Given the description of an element on the screen output the (x, y) to click on. 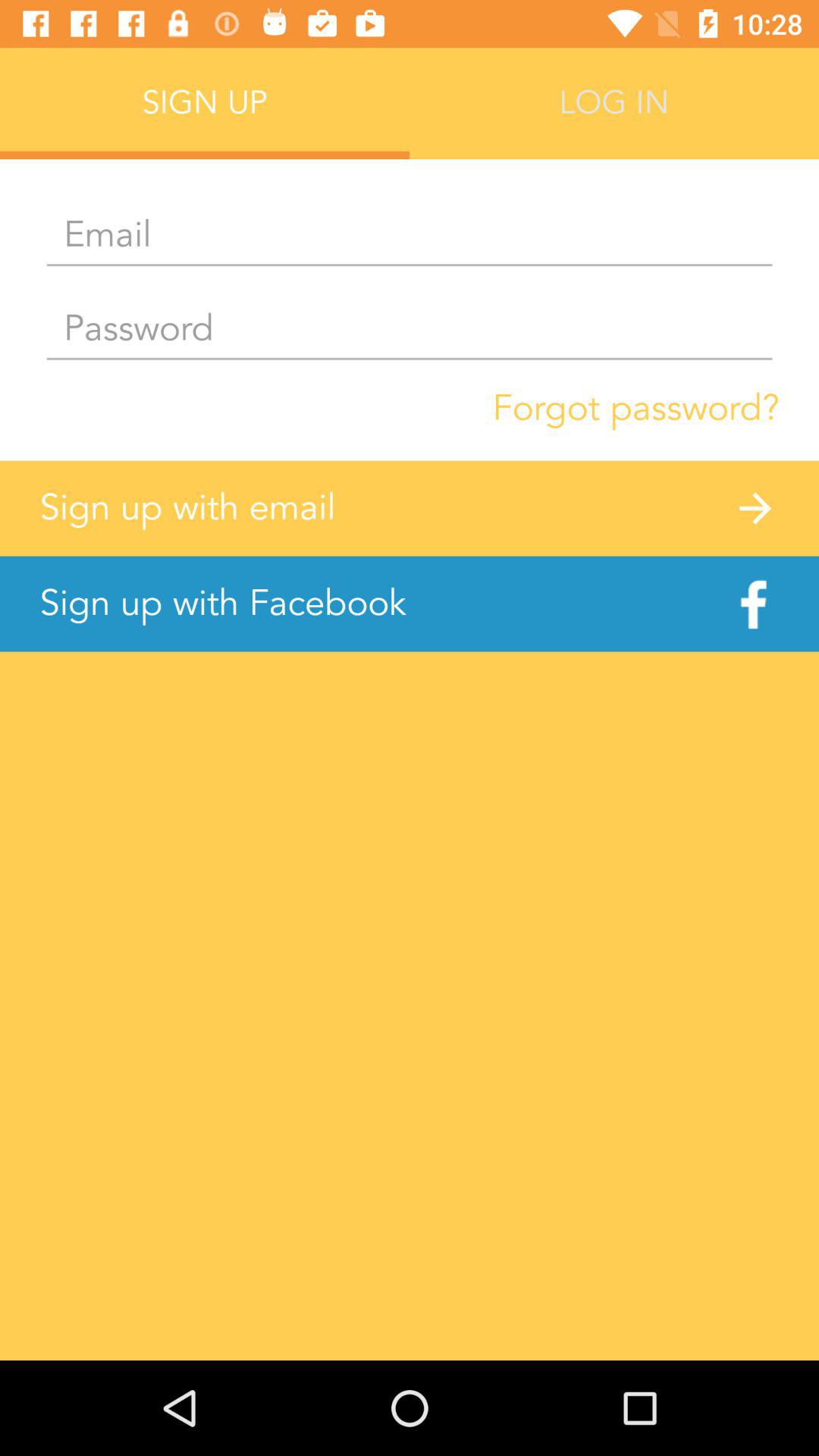
swipe until the forgot password? item (635, 408)
